Given the description of an element on the screen output the (x, y) to click on. 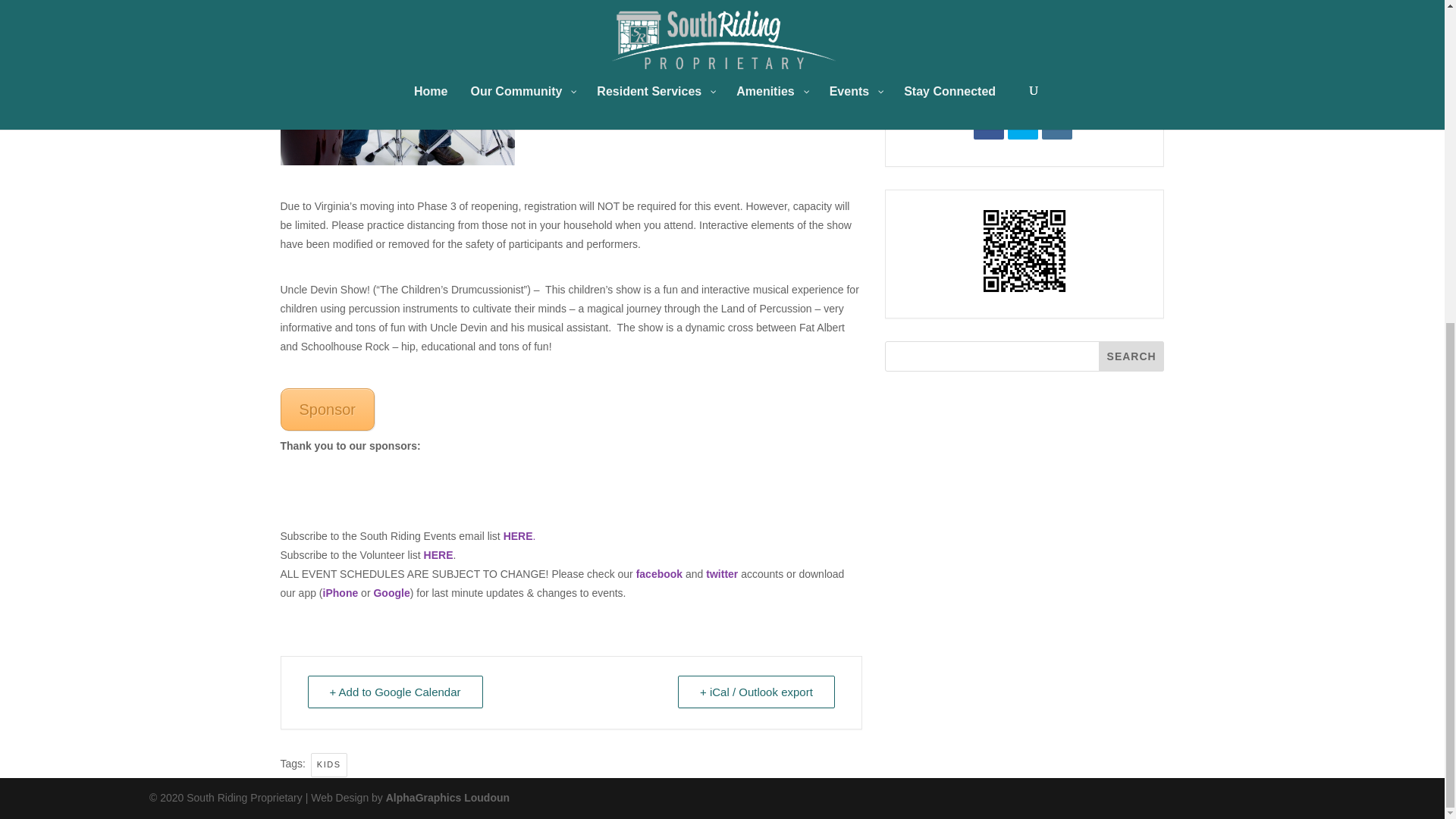
Share on Facebook (989, 123)
Tweet (1022, 123)
Search (1131, 356)
Linkedin (1056, 123)
